Given the description of an element on the screen output the (x, y) to click on. 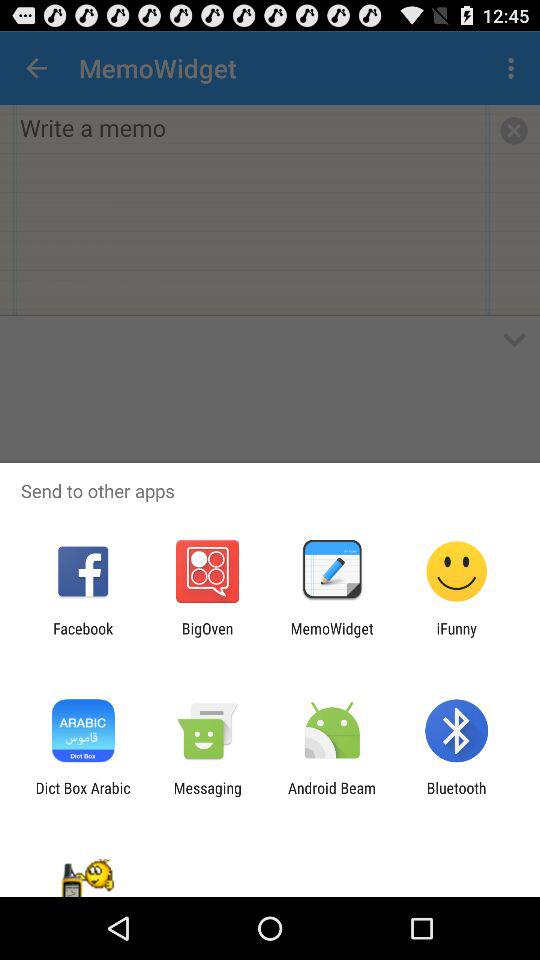
click app to the right of messaging (332, 796)
